Given the description of an element on the screen output the (x, y) to click on. 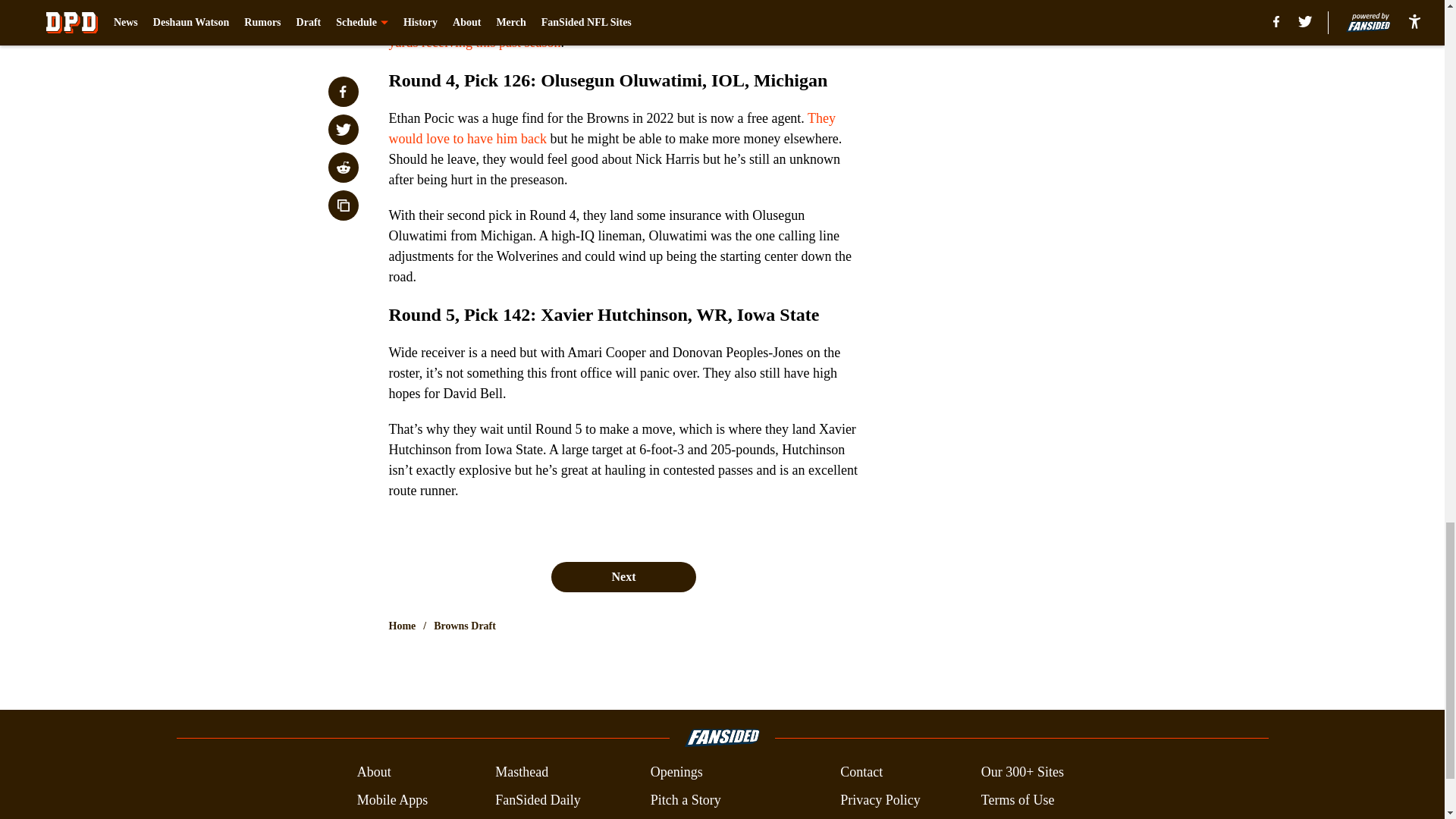
Contact (861, 772)
About (373, 772)
Home (401, 626)
Browns Draft (464, 626)
did have 497 yards receiving this past season (612, 31)
Pitch a Story (685, 800)
Openings (676, 772)
They would love to have him back (611, 128)
FanSided Daily (537, 800)
Next (622, 576)
Terms of Use (1017, 800)
Privacy Policy (880, 800)
Mobile Apps (392, 800)
Masthead (521, 772)
